Given the description of an element on the screen output the (x, y) to click on. 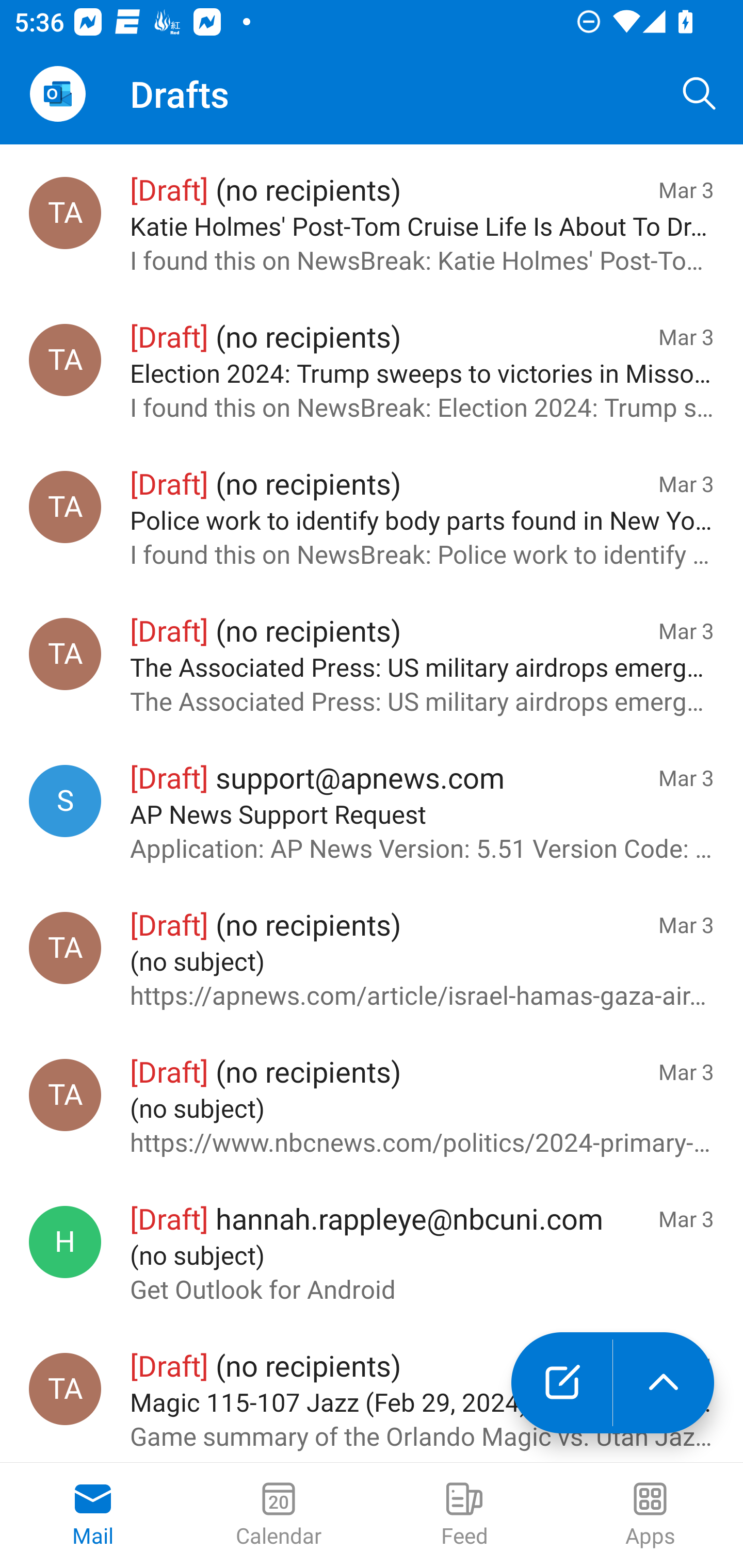
Search, ,  (699, 93)
Open Navigation Drawer (57, 94)
Test Appium, testappium002@outlook.com (64, 213)
Test Appium, testappium002@outlook.com (64, 360)
Test Appium, testappium002@outlook.com (64, 506)
Test Appium, testappium002@outlook.com (64, 653)
support@apnews.com (64, 801)
Test Appium, testappium002@outlook.com (64, 948)
Test Appium, testappium002@outlook.com (64, 1094)
hannah.rappleye@nbcuni.com (64, 1241)
New mail (561, 1382)
launch the extended action menu (663, 1382)
Test Appium, testappium002@outlook.com (64, 1389)
Calendar (278, 1515)
Feed (464, 1515)
Apps (650, 1515)
